Given the description of an element on the screen output the (x, y) to click on. 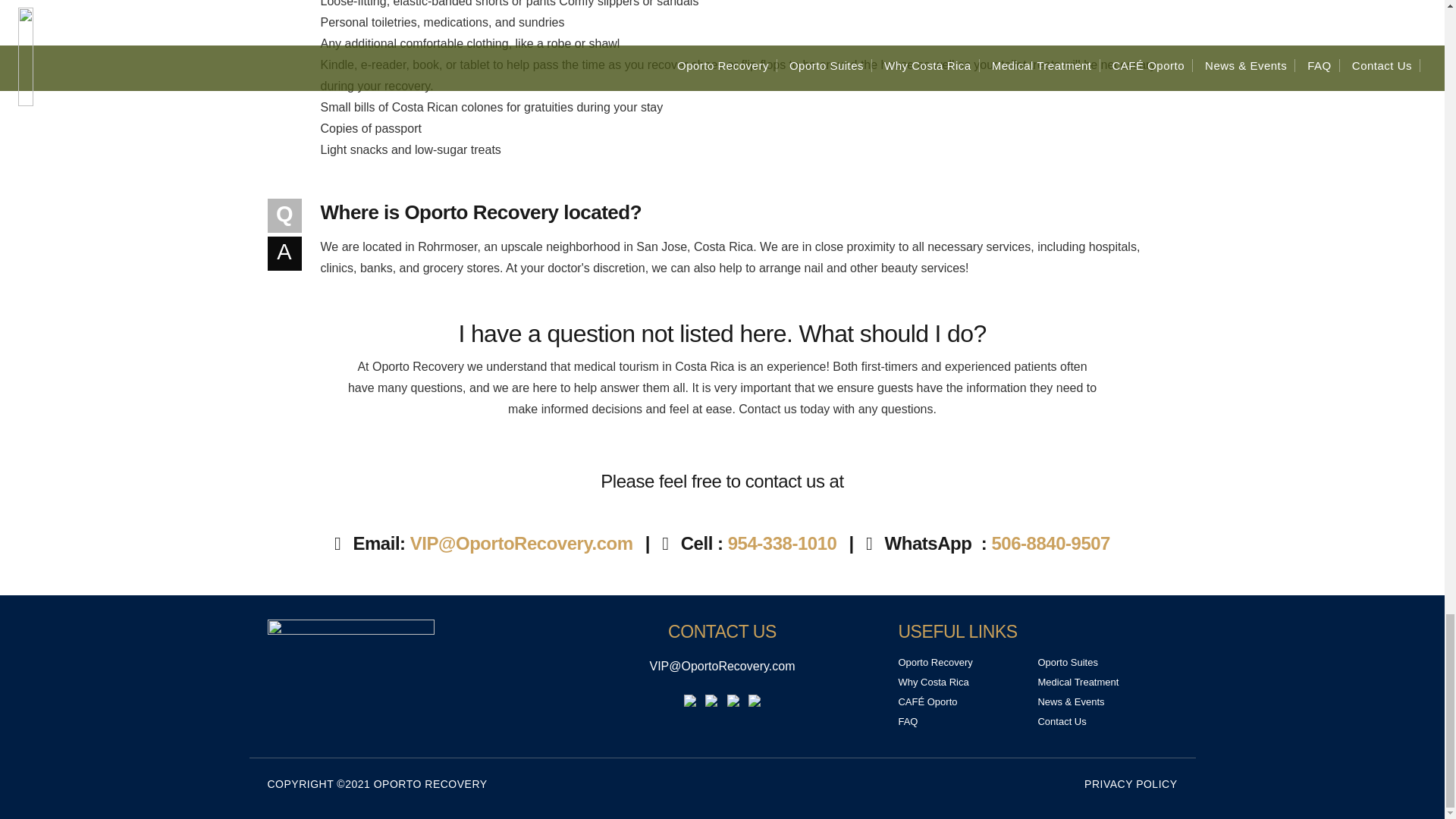
506-8840-9507 (1054, 543)
954-338-1010 (786, 543)
Oporto Recovery (935, 662)
Medical Treatment (1077, 681)
Why Costa Rica (933, 681)
Oporto Suites (1066, 662)
FAQ (907, 721)
Home 2 (406, 668)
